Given the description of an element on the screen output the (x, y) to click on. 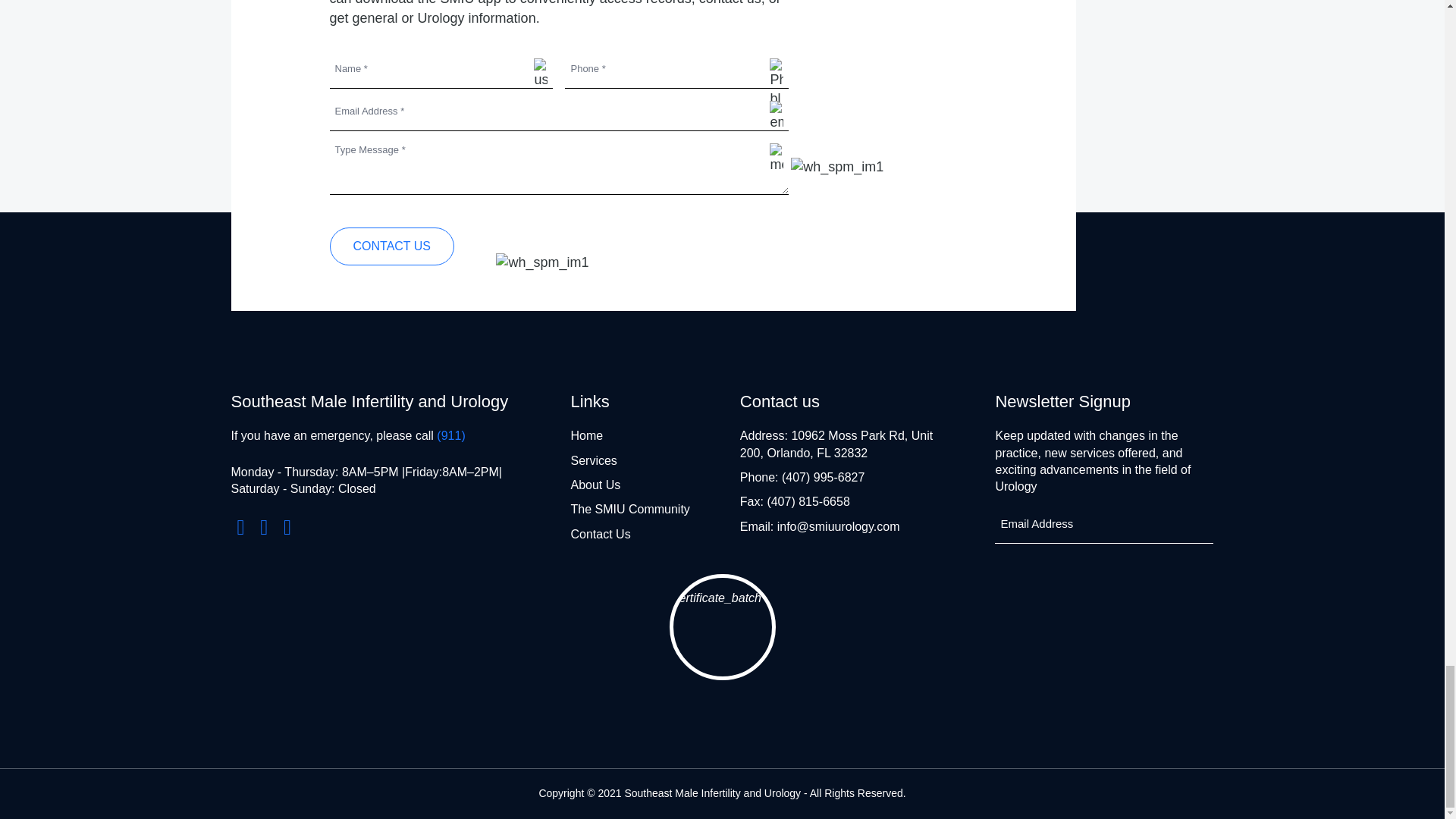
Contact Us (391, 246)
